Given the description of an element on the screen output the (x, y) to click on. 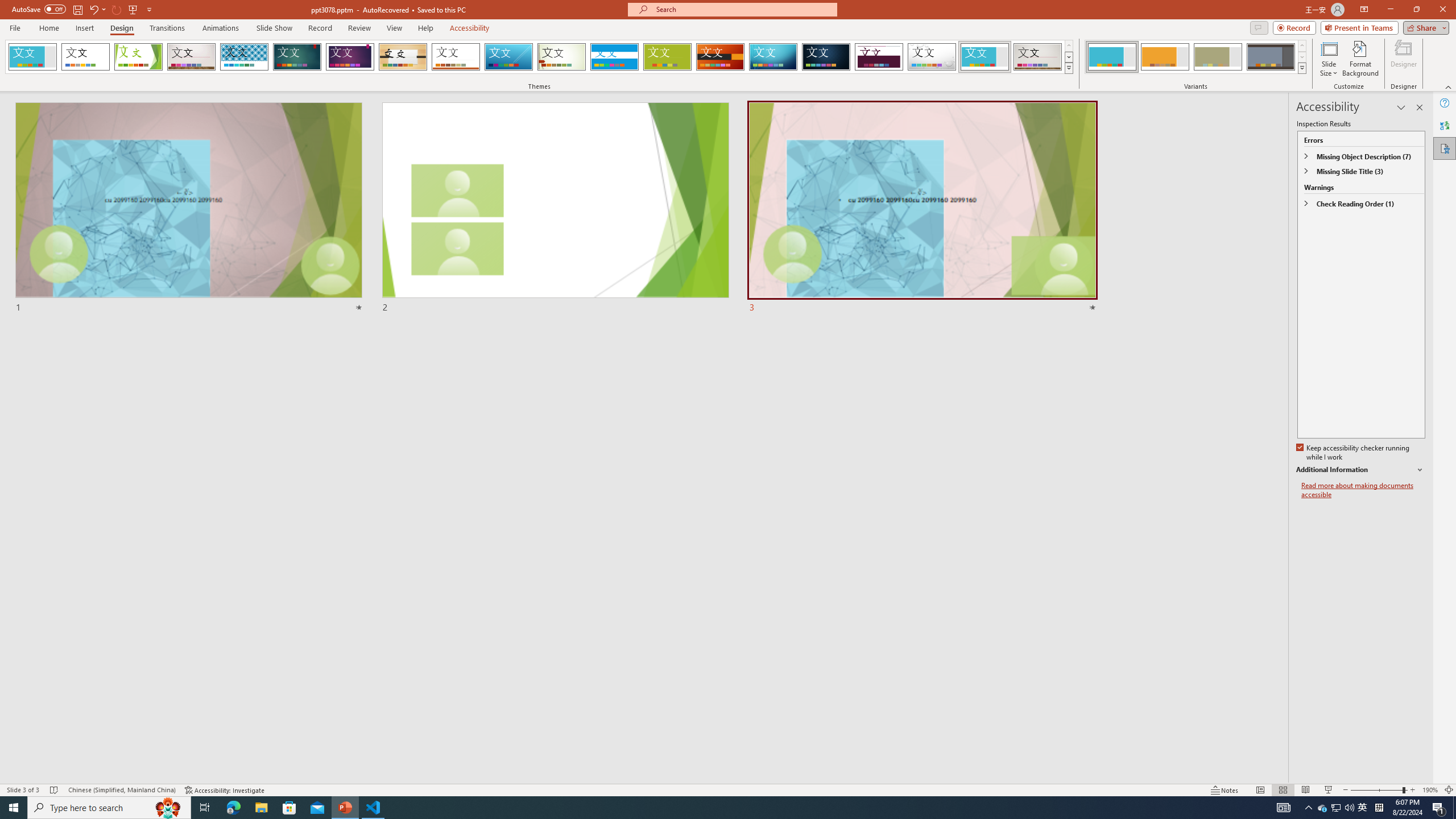
Droplet (931, 56)
Circuit (772, 56)
Banded (614, 56)
Themes (1068, 67)
Keep accessibility checker running while I work (1353, 452)
Wisp (561, 56)
Slide Size (1328, 58)
Facet (138, 56)
AutomationID: ThemeVariantsGallery (1195, 56)
Format Background (1360, 58)
